Given the description of an element on the screen output the (x, y) to click on. 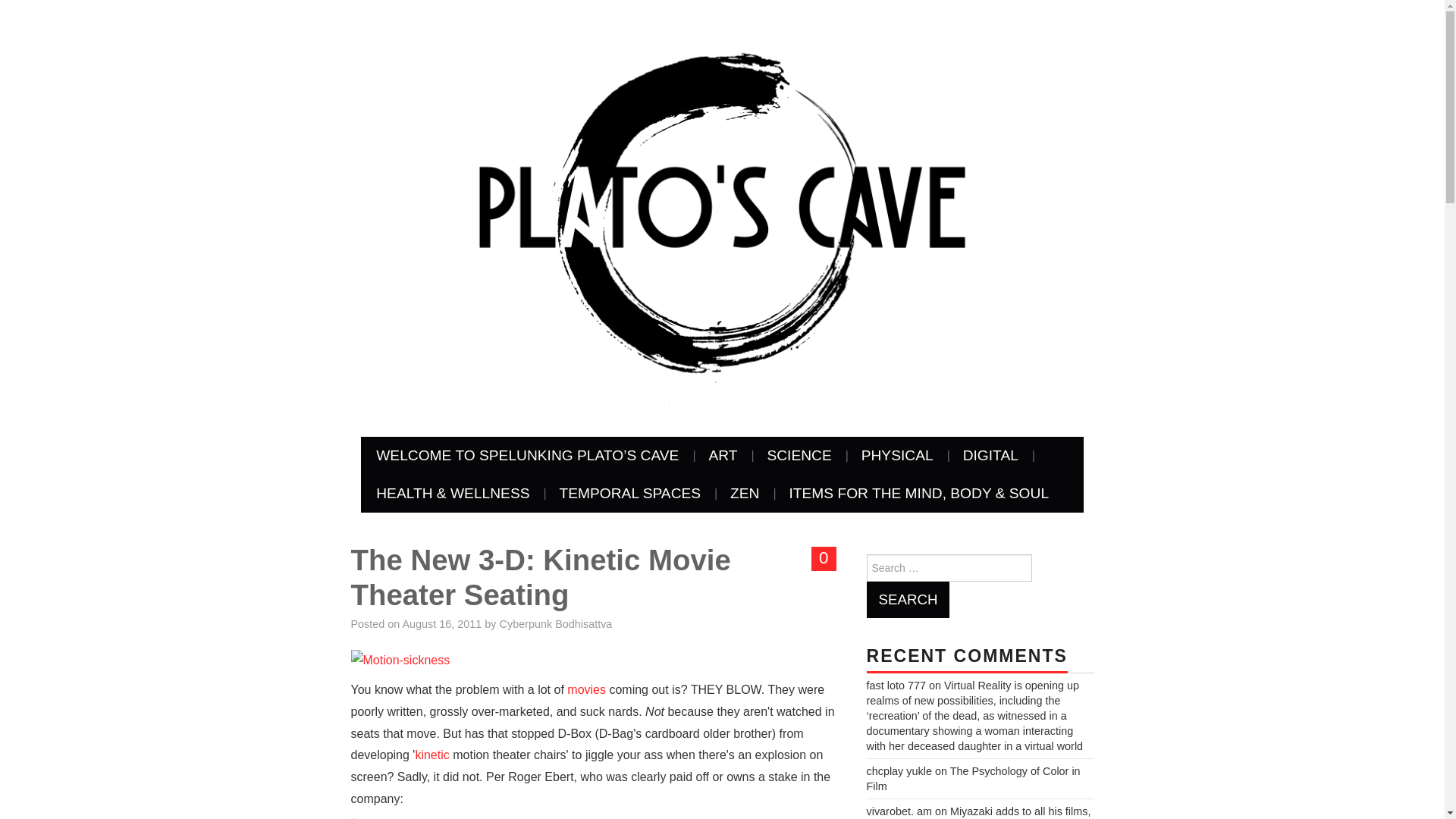
Search for: (948, 567)
TEMPORAL SPACES (630, 493)
Search (907, 599)
View all posts by Cyberpunk Bodhisattva (555, 623)
ART (722, 455)
Search (907, 599)
ZEN (744, 493)
SCIENCE (798, 455)
PHYSICAL (897, 455)
Motion-sickness (399, 660)
DIGITAL (990, 455)
8:58 pm (442, 623)
